Given the description of an element on the screen output the (x, y) to click on. 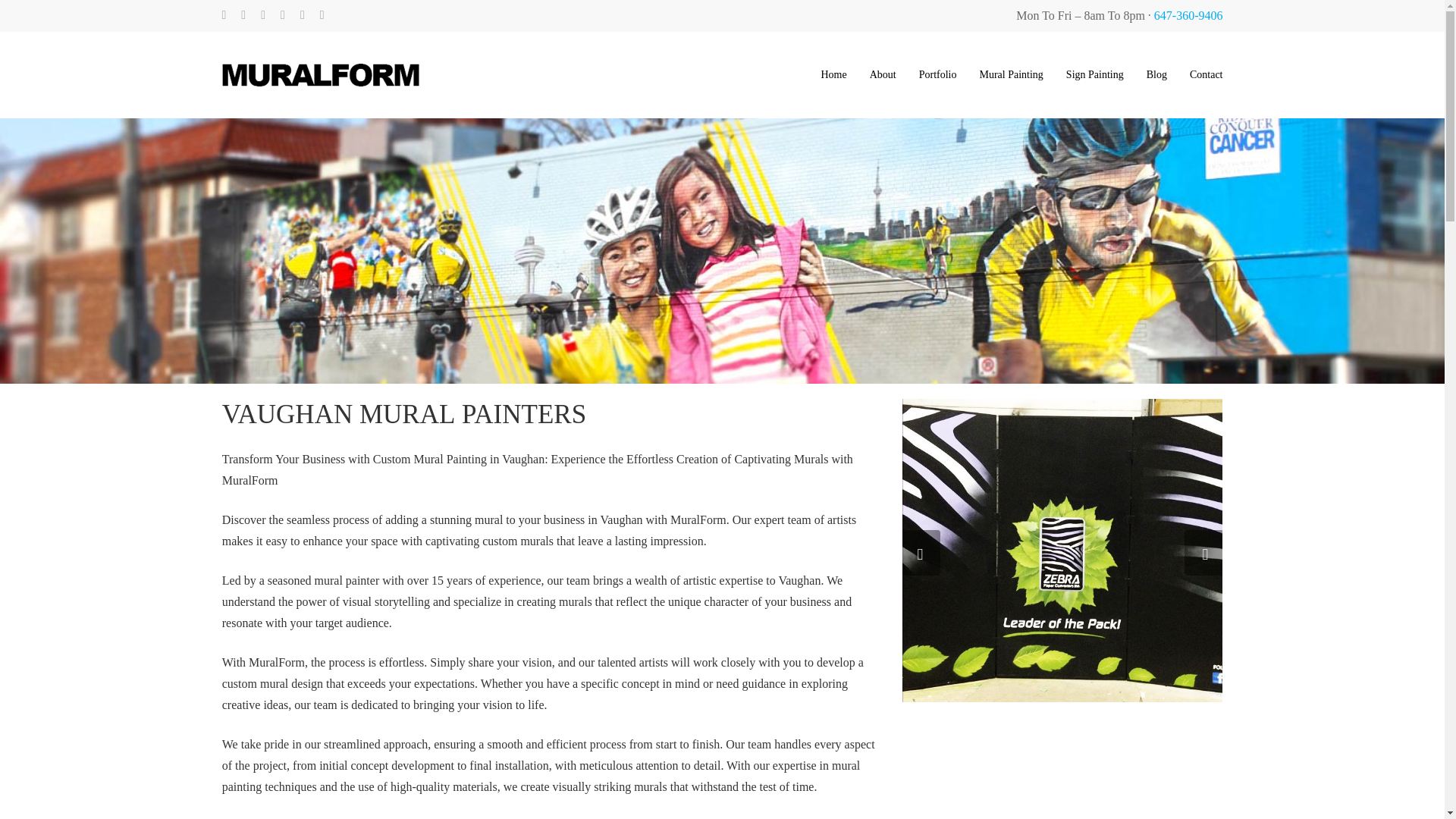
Sign Painting (1094, 74)
Mural Painting (1010, 74)
Blog (1157, 74)
Home (833, 74)
647-360-9406 (1188, 15)
About (882, 74)
Contact (1206, 74)
Portfolio (937, 74)
